Given the description of an element on the screen output the (x, y) to click on. 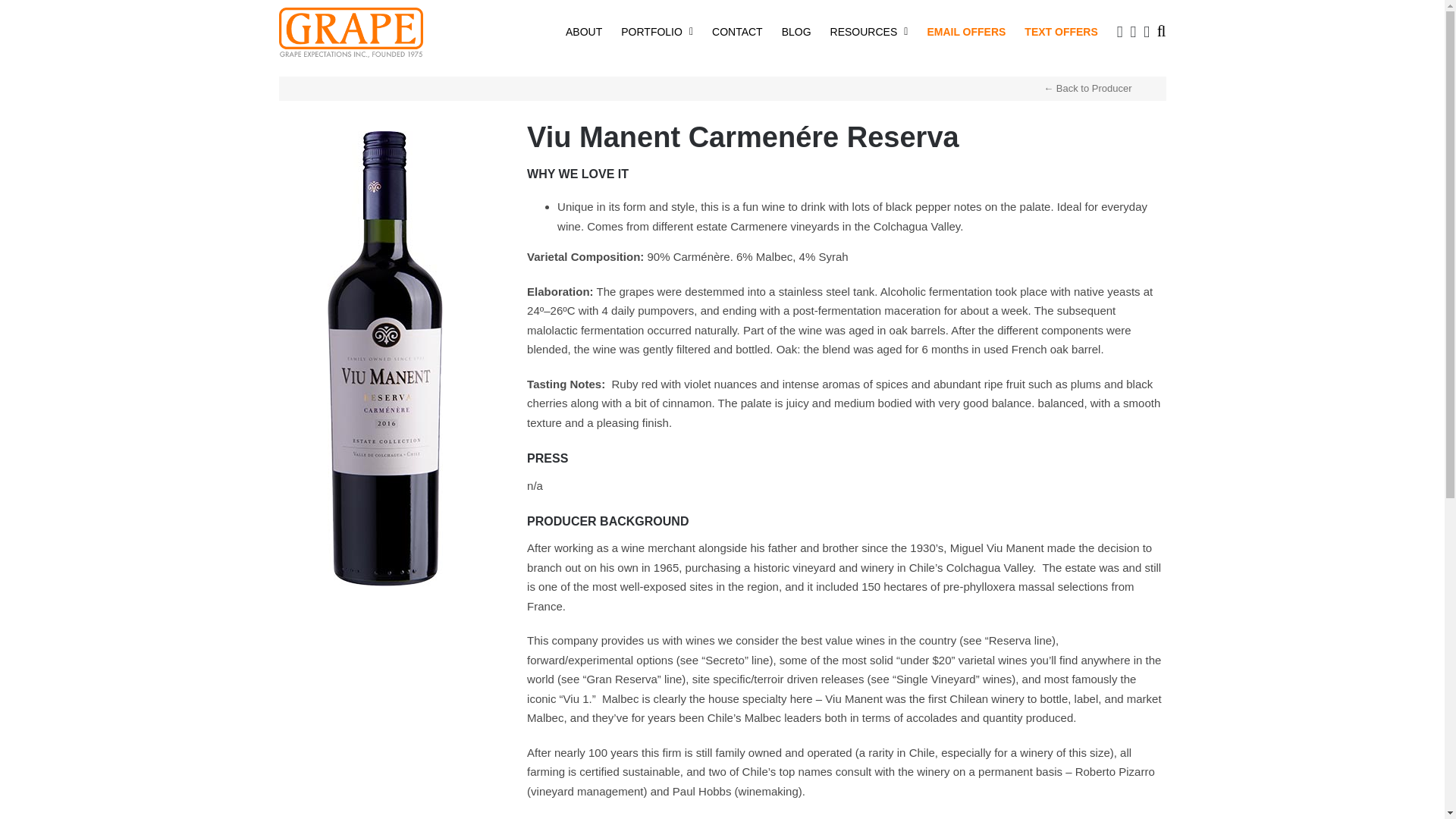
RESOURCES (868, 30)
EMAIL OFFERS (966, 30)
TEXT OFFERS (1061, 30)
VMREC-CAR-16 (384, 136)
PORTFOLIO (657, 30)
